Given the description of an element on the screen output the (x, y) to click on. 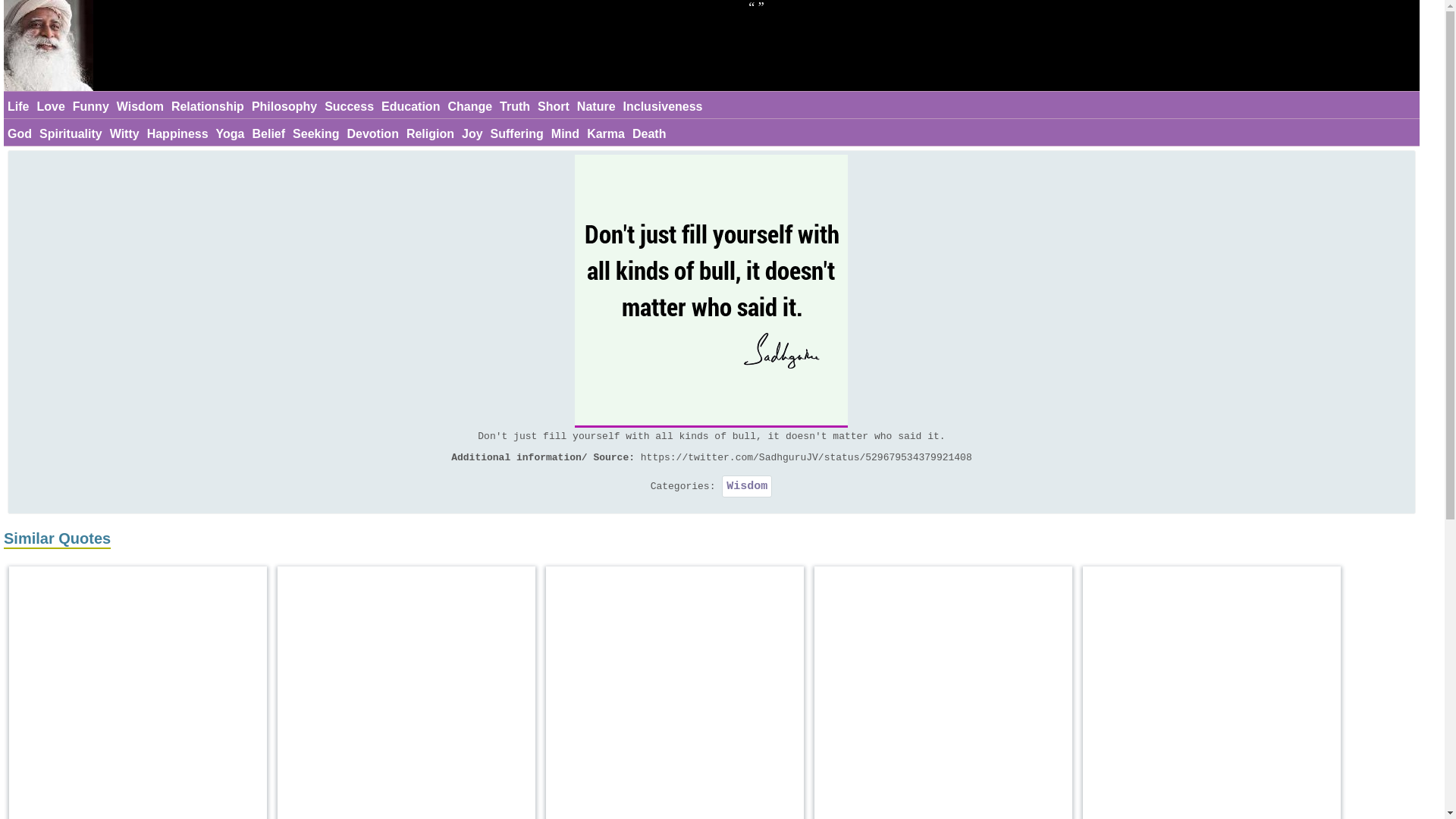
Short (553, 106)
Life (18, 106)
Philosophy (283, 106)
Yoga (230, 133)
Funny (90, 106)
Wisdom (140, 106)
Karma (606, 133)
Love (49, 106)
Seeking (315, 133)
Relationship (207, 106)
